Given the description of an element on the screen output the (x, y) to click on. 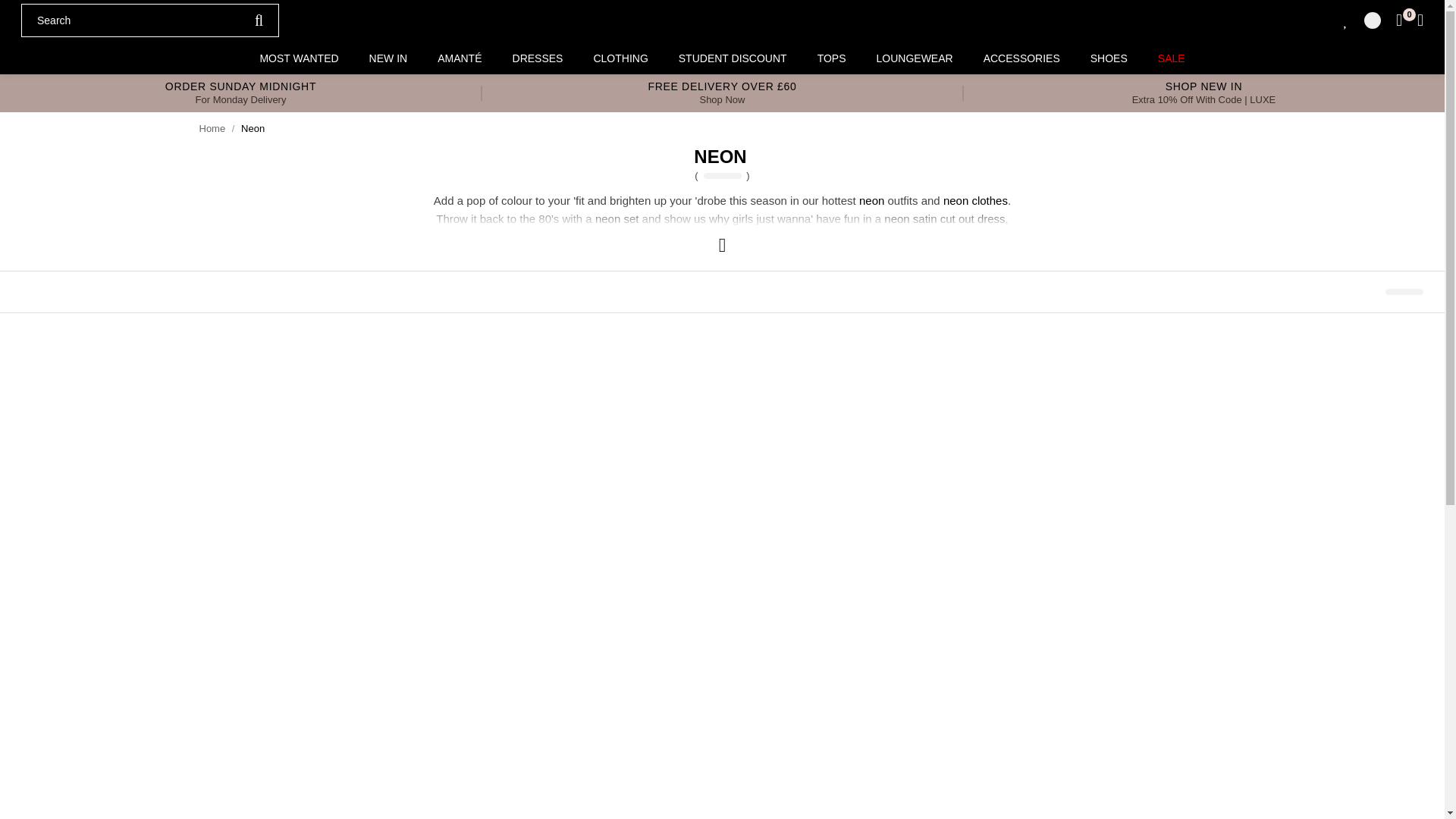
DRESSES (537, 57)
NEW IN (388, 57)
submit (259, 20)
Home (211, 128)
MOST WANTED (298, 57)
Femme Luxe (721, 20)
